Given the description of an element on the screen output the (x, y) to click on. 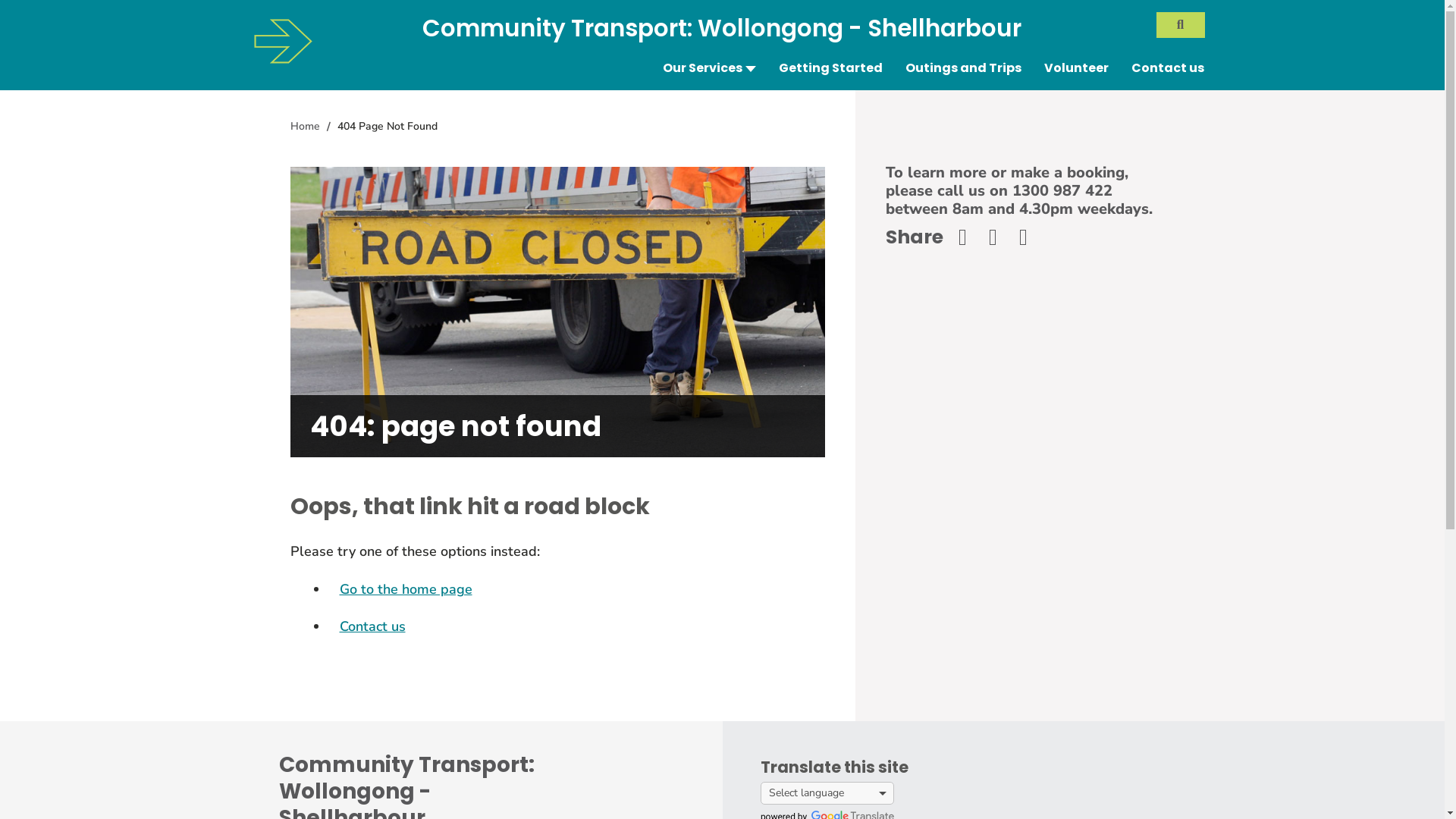
Community Transport homepage Element type: hover (282, 42)
Home Element type: text (304, 126)
Our Services Element type: text (709, 68)
Wollongong City Council - Twitter Element type: text (999, 236)
Getting Started Element type: text (829, 68)
Wollongong City Council - Linked In Element type: text (1030, 236)
Outings and Trips Element type: text (963, 68)
Wollongong City Council - Facebook Element type: text (969, 236)
Volunteer Element type: text (1075, 68)
Go to the home page Element type: text (405, 589)
Site Keyword Search - Open Element type: text (1179, 24)
Contact us Element type: text (1167, 68)
Contact us Element type: text (372, 626)
